Given the description of an element on the screen output the (x, y) to click on. 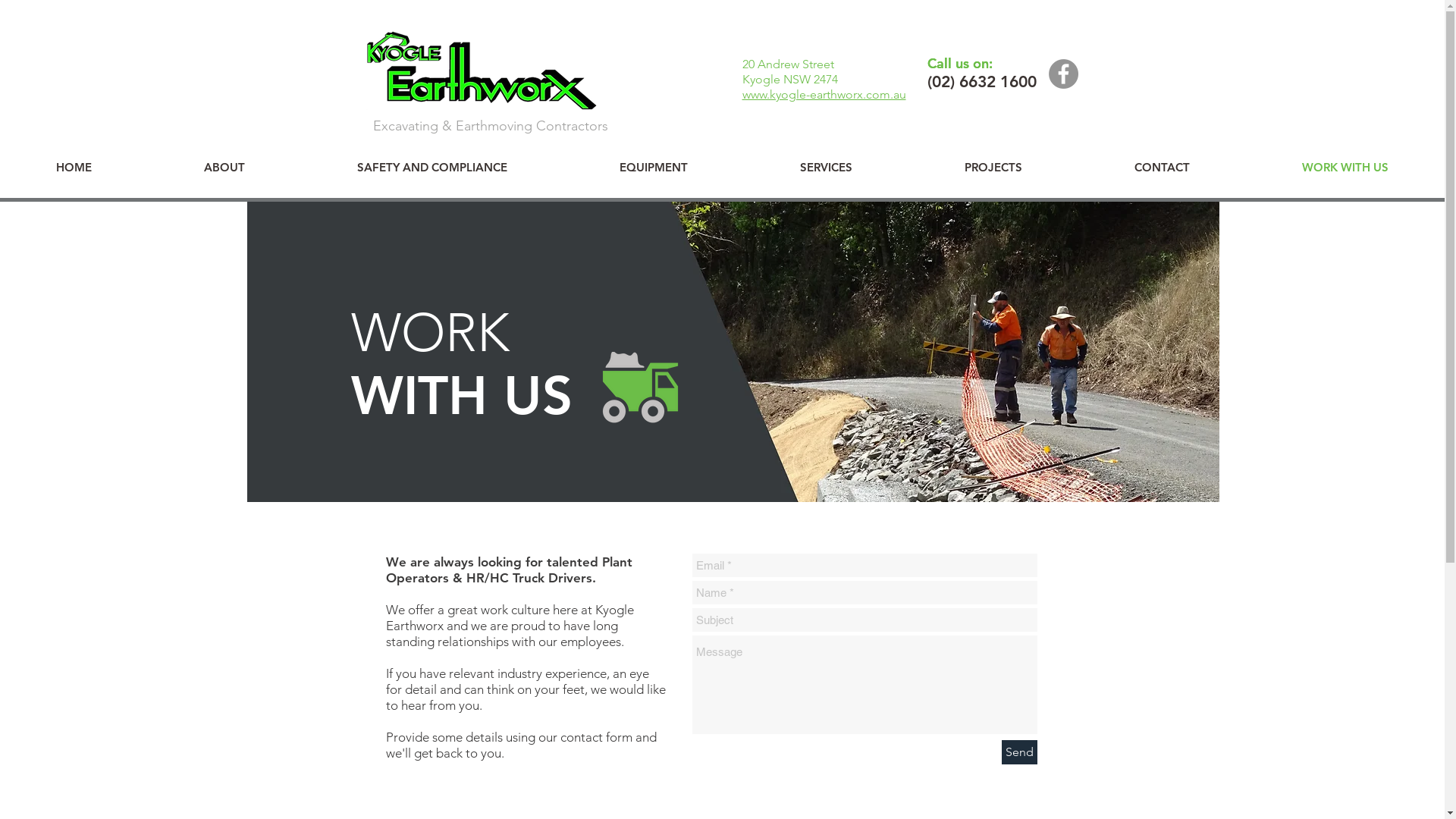
EQUIPMENT Element type: text (653, 167)
PROJECTS Element type: text (993, 167)
SERVICES Element type: text (825, 167)
WORK WITH US Element type: text (1344, 167)
CONTACT Element type: text (1161, 167)
ABOUT Element type: text (224, 167)
Send Element type: text (1018, 752)
HOME Element type: text (73, 167)
SAFETY AND COMPLIANCE Element type: text (432, 167)
www.kyogle-earthworx.com.au Element type: text (823, 94)
(02) 6632 1600 Element type: text (980, 81)
